Given the description of an element on the screen output the (x, y) to click on. 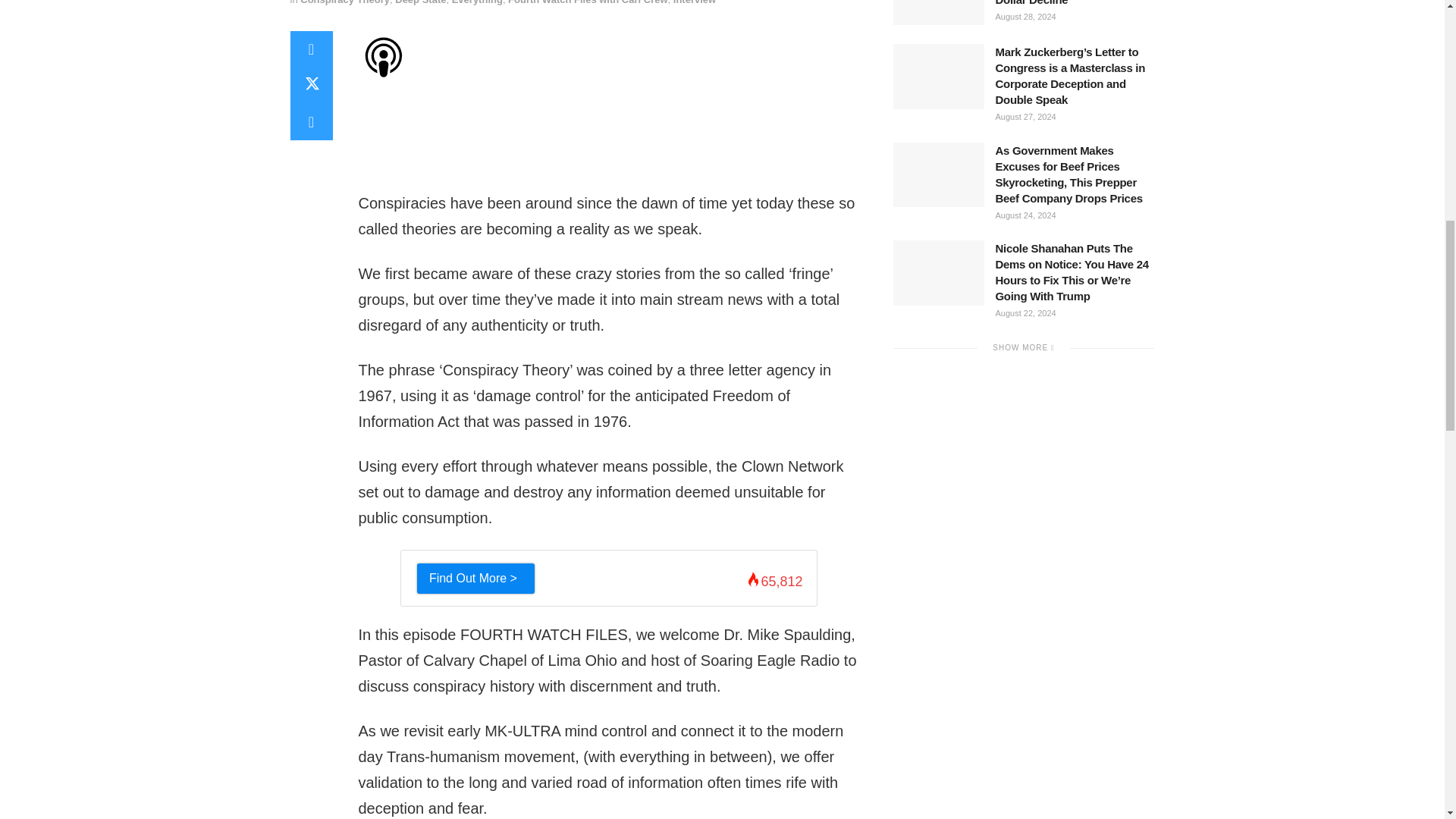
Fourth Watch Files with Carl Crew (587, 2)
Everything (476, 2)
Deep State (419, 2)
Interview (694, 2)
Conspiracy Theory (344, 2)
